Given the description of an element on the screen output the (x, y) to click on. 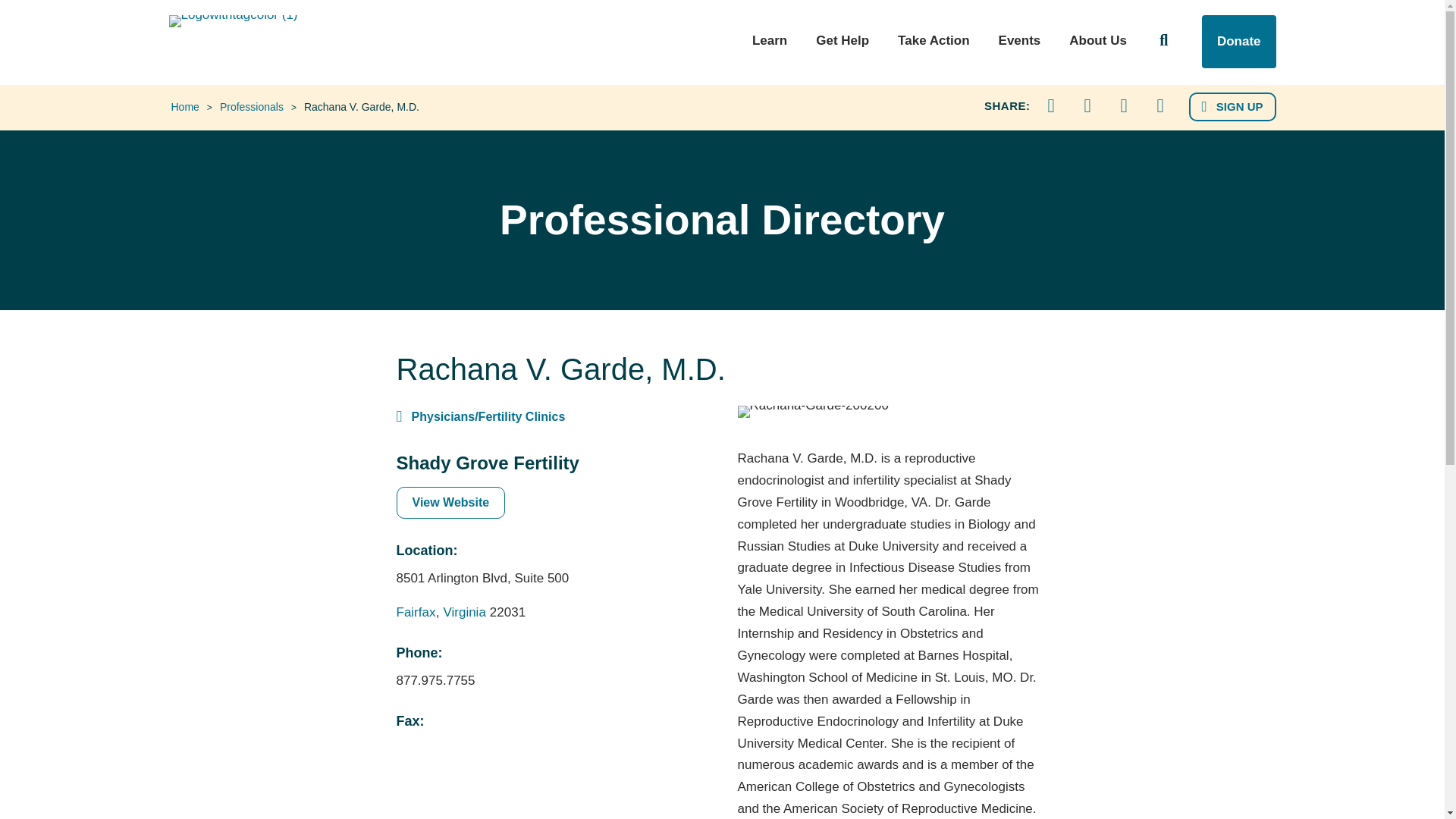
Learn (770, 48)
Donate (1239, 41)
Rachana-Garde-200200 (812, 411)
